Given the description of an element on the screen output the (x, y) to click on. 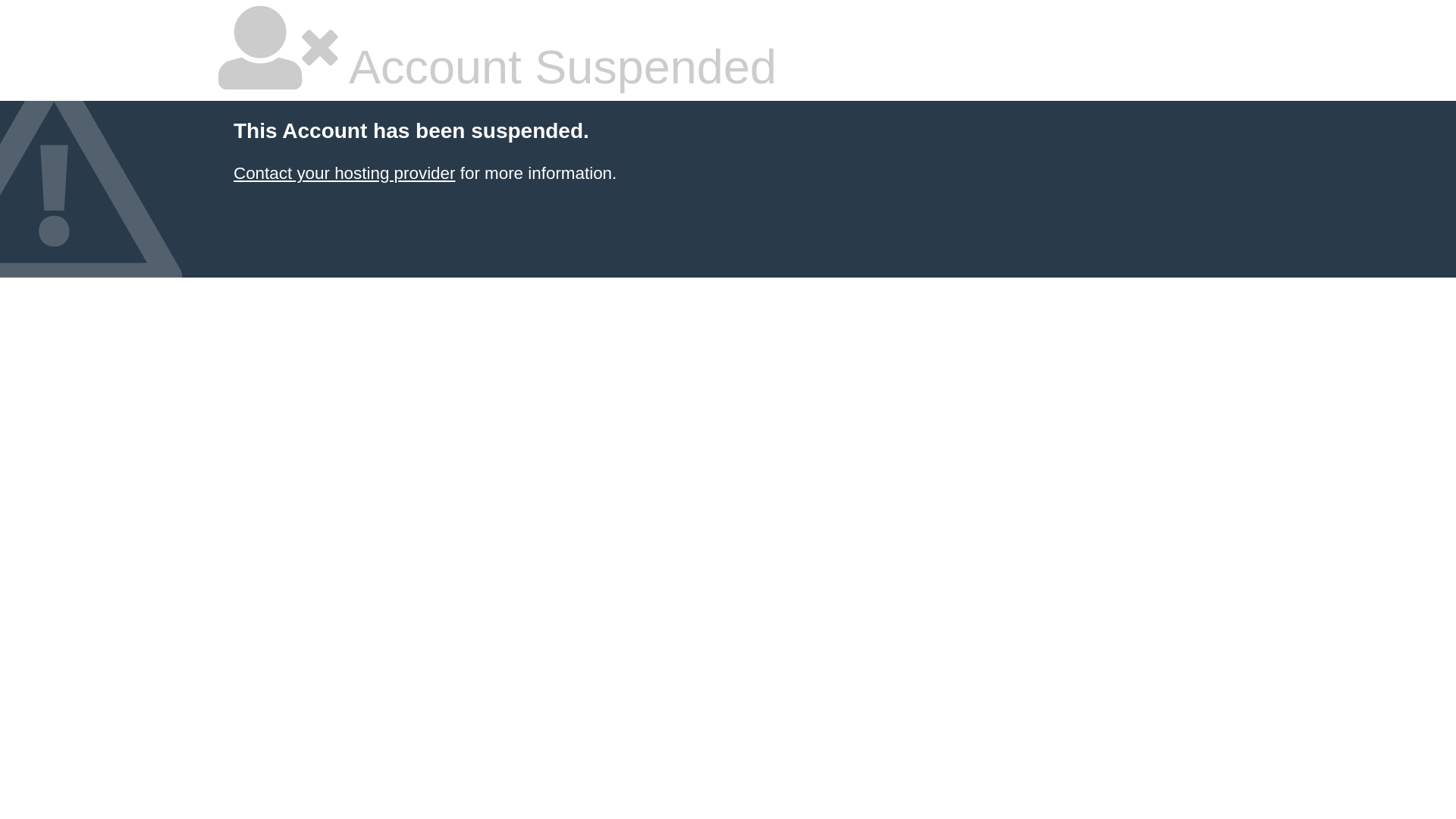
Contact your hosting provider Element type: text (344, 172)
